Given the description of an element on the screen output the (x, y) to click on. 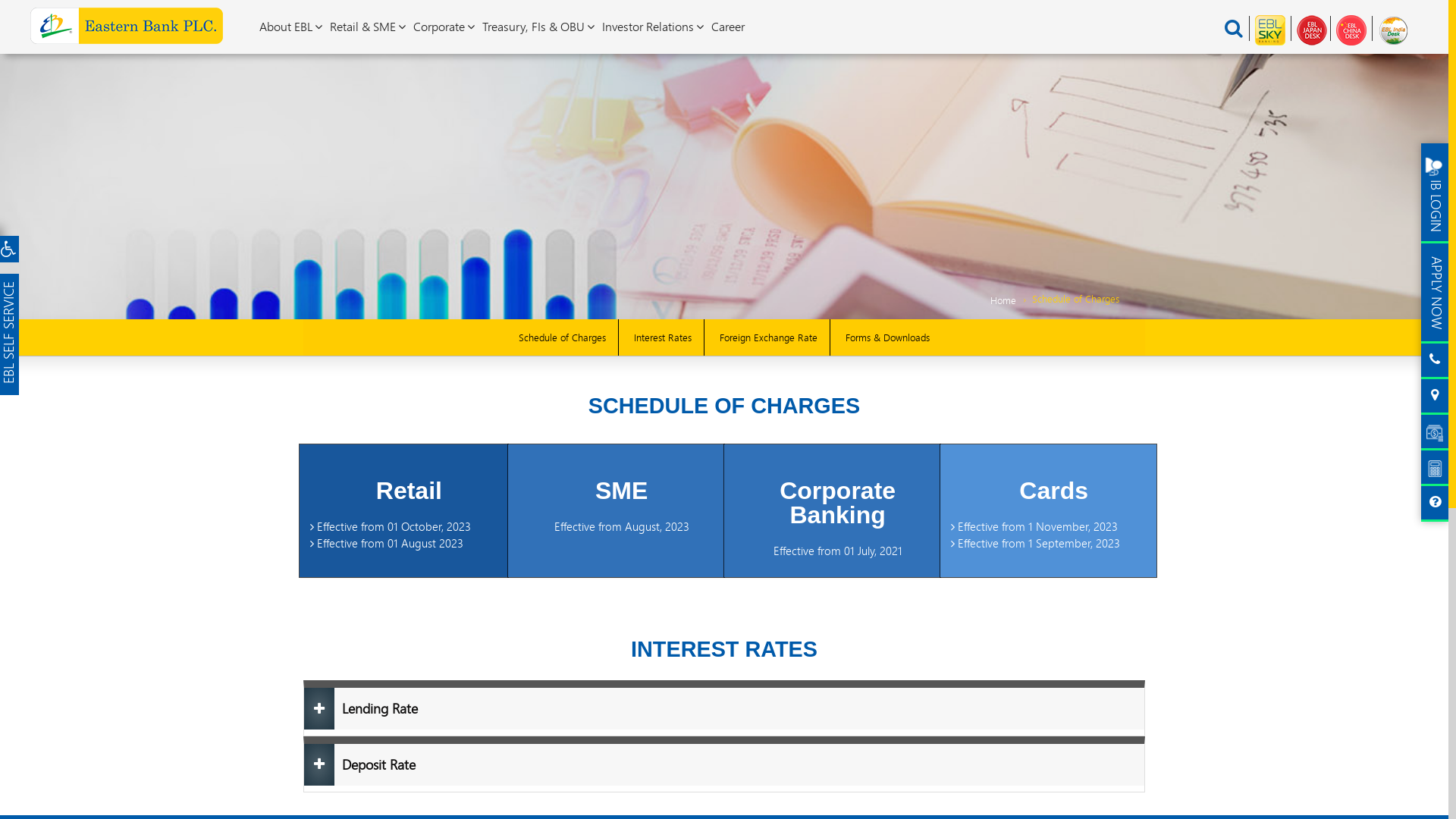
Hotline:1 6 2 3 0 Element type: hover (1434, 361)
Career Element type: text (727, 26)
Retail & SME Element type: text (367, 26)
Corporate Element type: text (443, 26)
Lending Rate Element type: text (724, 708)
Forms & Downloads Element type: text (887, 337)
APPLY NOW Element type: text (1434, 293)
Accessibility Menu Element type: hover (7, 247)
IB LOGIN Element type: text (1434, 193)
Schedule of Charges Element type: text (561, 337)
Our Branches Element type: hover (1434, 396)
Treasury, FIs & OBU Element type: text (538, 26)
Home Element type: text (1003, 300)
About EBL Element type: text (290, 26)
Deposit Rate Element type: text (724, 764)
Search Element type: text (1233, 27)
Investor Relations Element type: text (652, 26)
Interest Rates Element type: text (662, 337)
Corporate Banking
Effective from 01 July, 2021 Element type: text (832, 510)
Foreign Exchange Rate Element type: text (768, 337)
SME
Effective from August, 2023 Element type: text (616, 510)
